Given the description of an element on the screen output the (x, y) to click on. 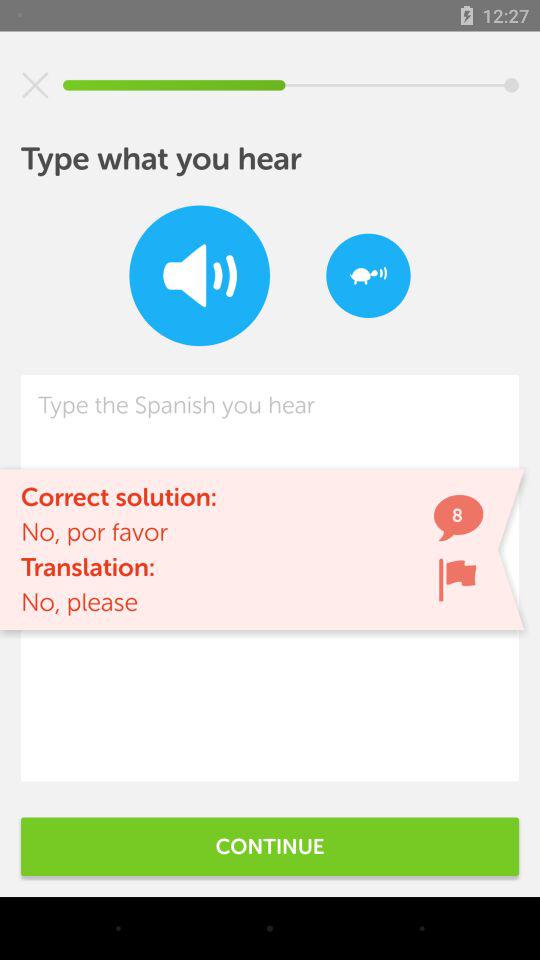
play sound (199, 275)
